Given the description of an element on the screen output the (x, y) to click on. 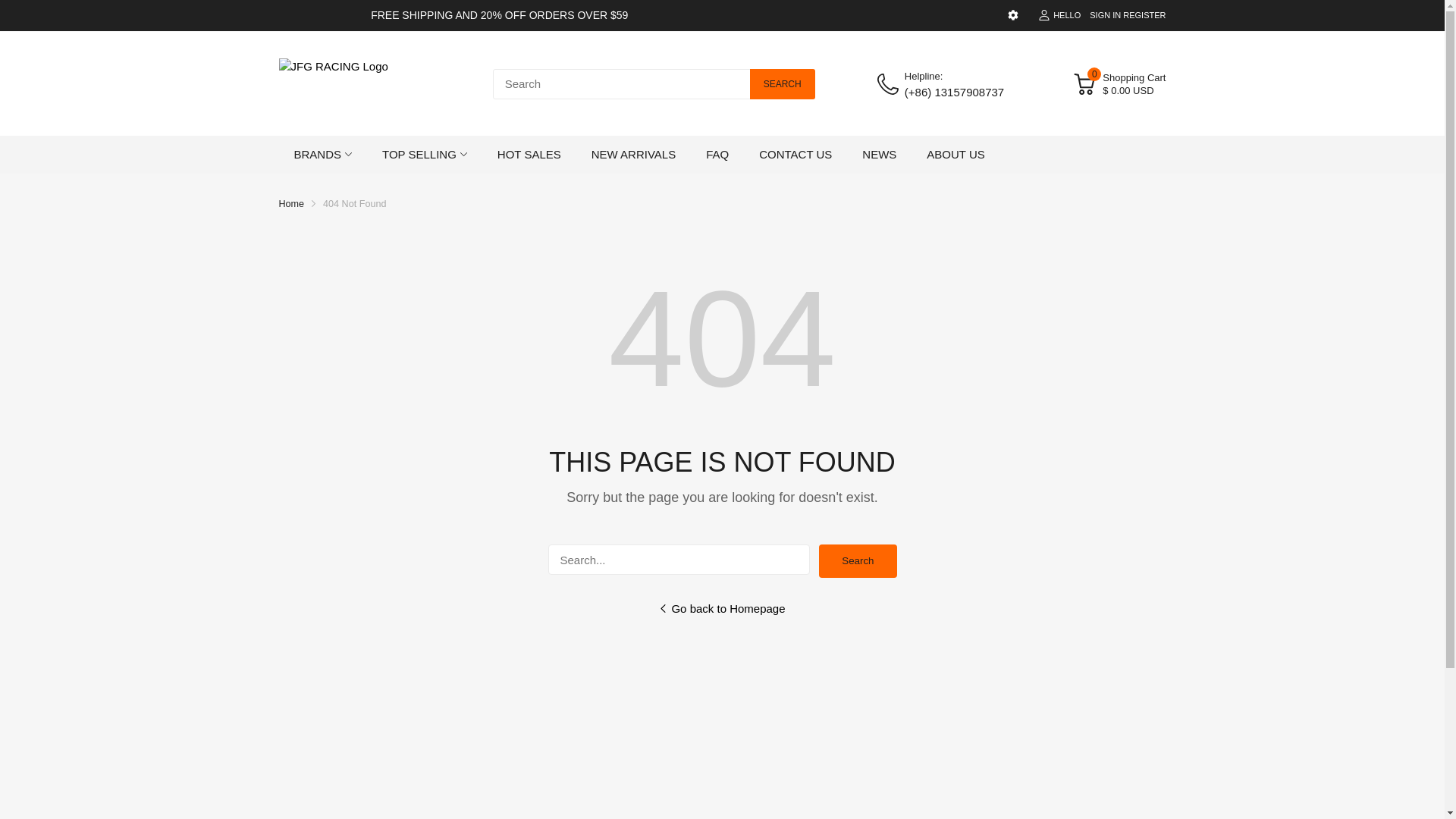
NEWS (878, 154)
CONTACT US (794, 154)
SIGN IN (1105, 14)
404 Not Found (354, 204)
Search (857, 561)
NEW ARRIVALS (633, 154)
Home (291, 204)
Go back to Homepage (721, 619)
HOT SALES (528, 154)
TOP SELLING (419, 154)
HELLO (1059, 15)
BRANDS (318, 154)
ABOUT US (955, 154)
REGISTER (1144, 14)
0 (1084, 84)
